Given the description of an element on the screen output the (x, y) to click on. 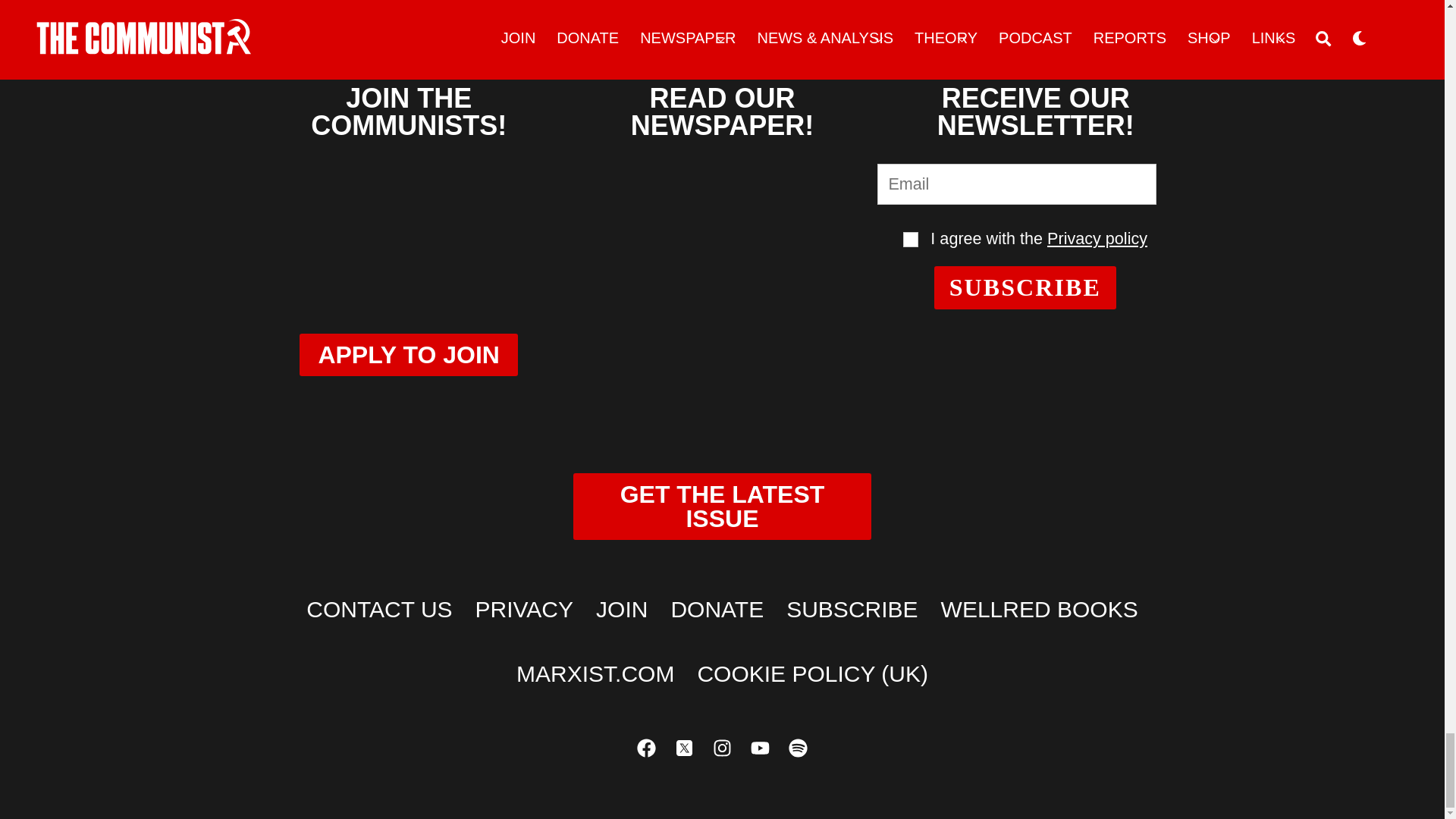
Privacy policy (1096, 238)
Terms and conditions (910, 239)
on (910, 239)
